Given the description of an element on the screen output the (x, y) to click on. 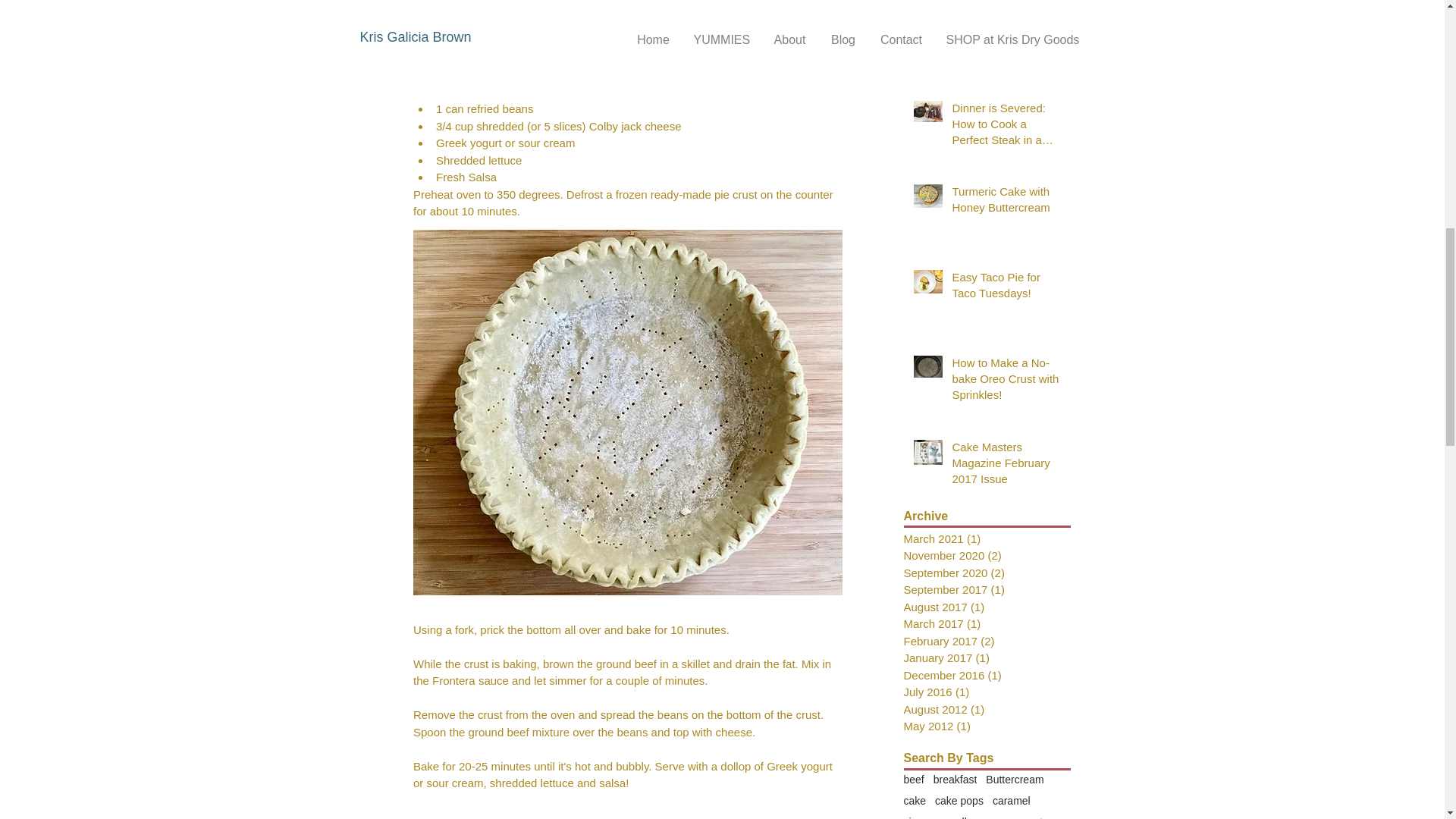
Easy Taco Pie for Taco Tuesdays! (1006, 288)
Cake Masters Magazine February 2017 Issue (1006, 465)
Turmeric Cake with Honey Buttercream (1006, 202)
How to Make a No-bake Oreo Crust with Sprinkles! (1006, 381)
Puff Pastry Cinnamon Rolls (1006, 34)
Dinner is Severed: How to Cook a Perfect Steak in a Skillet (1006, 126)
